Given the description of an element on the screen output the (x, y) to click on. 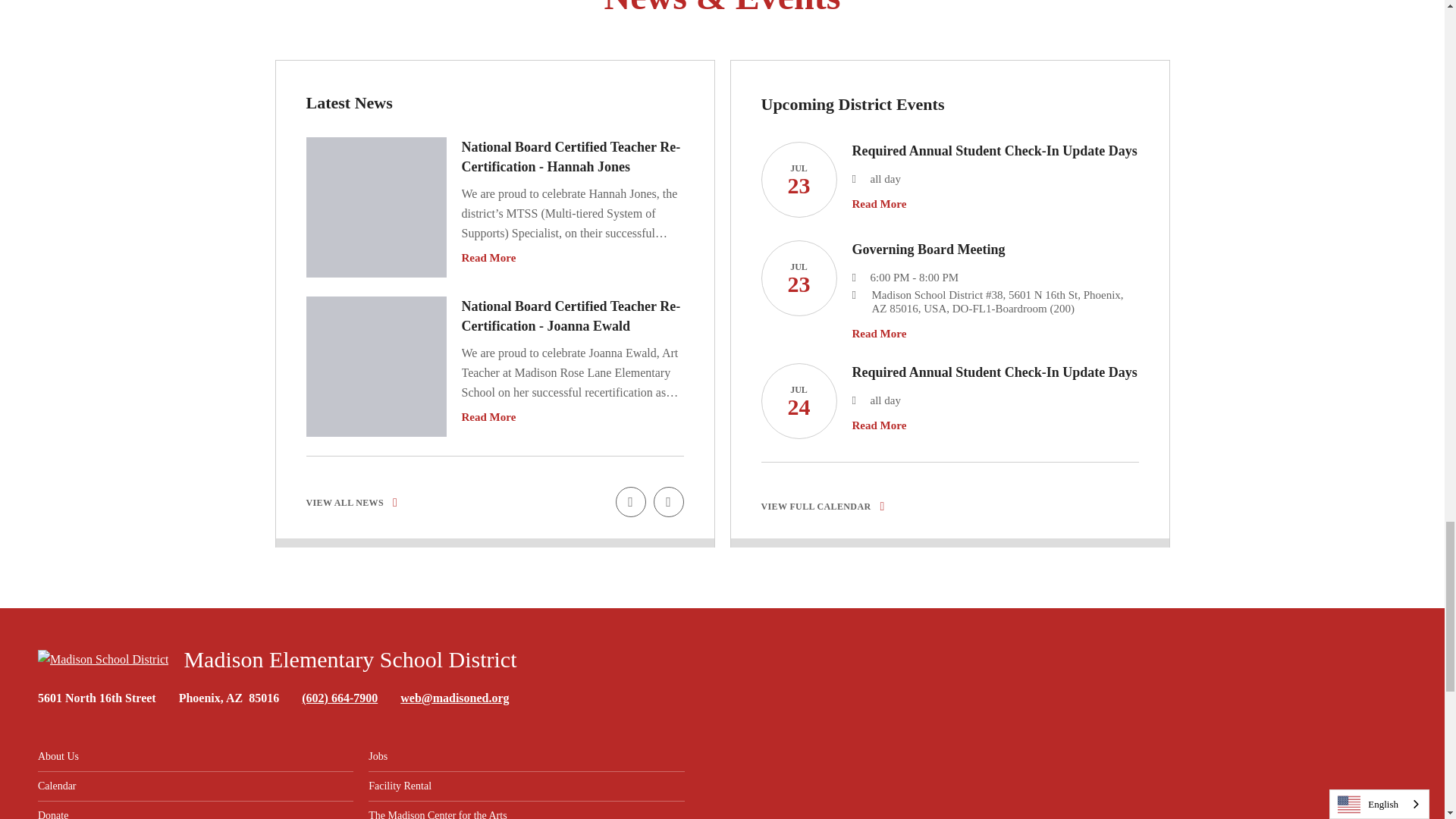
Email (454, 697)
